Given the description of an element on the screen output the (x, y) to click on. 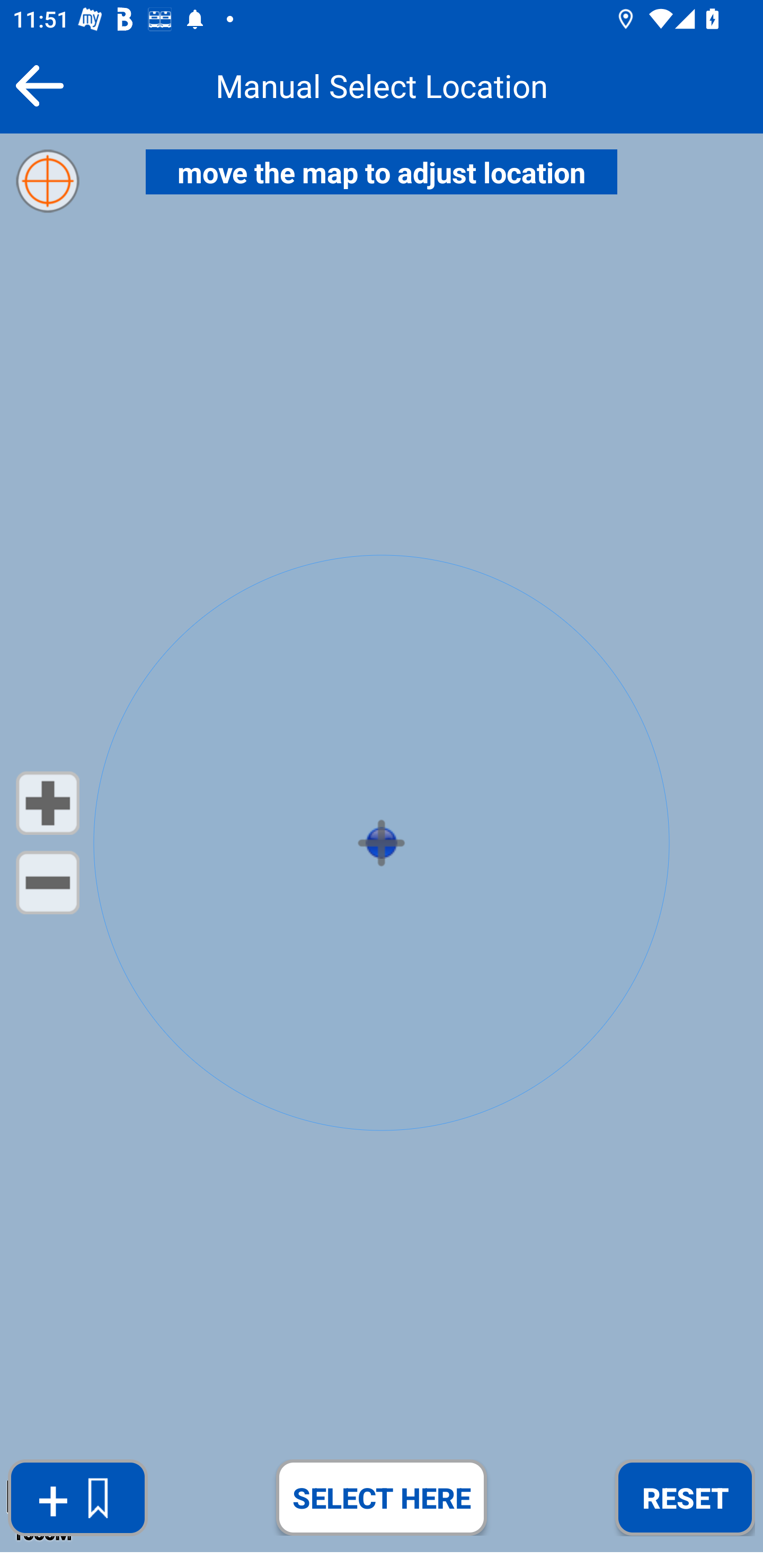
Back (39, 85)
Add bookmark (77, 1497)
SELECT HERE (381, 1497)
RESET (684, 1497)
